Given the description of an element on the screen output the (x, y) to click on. 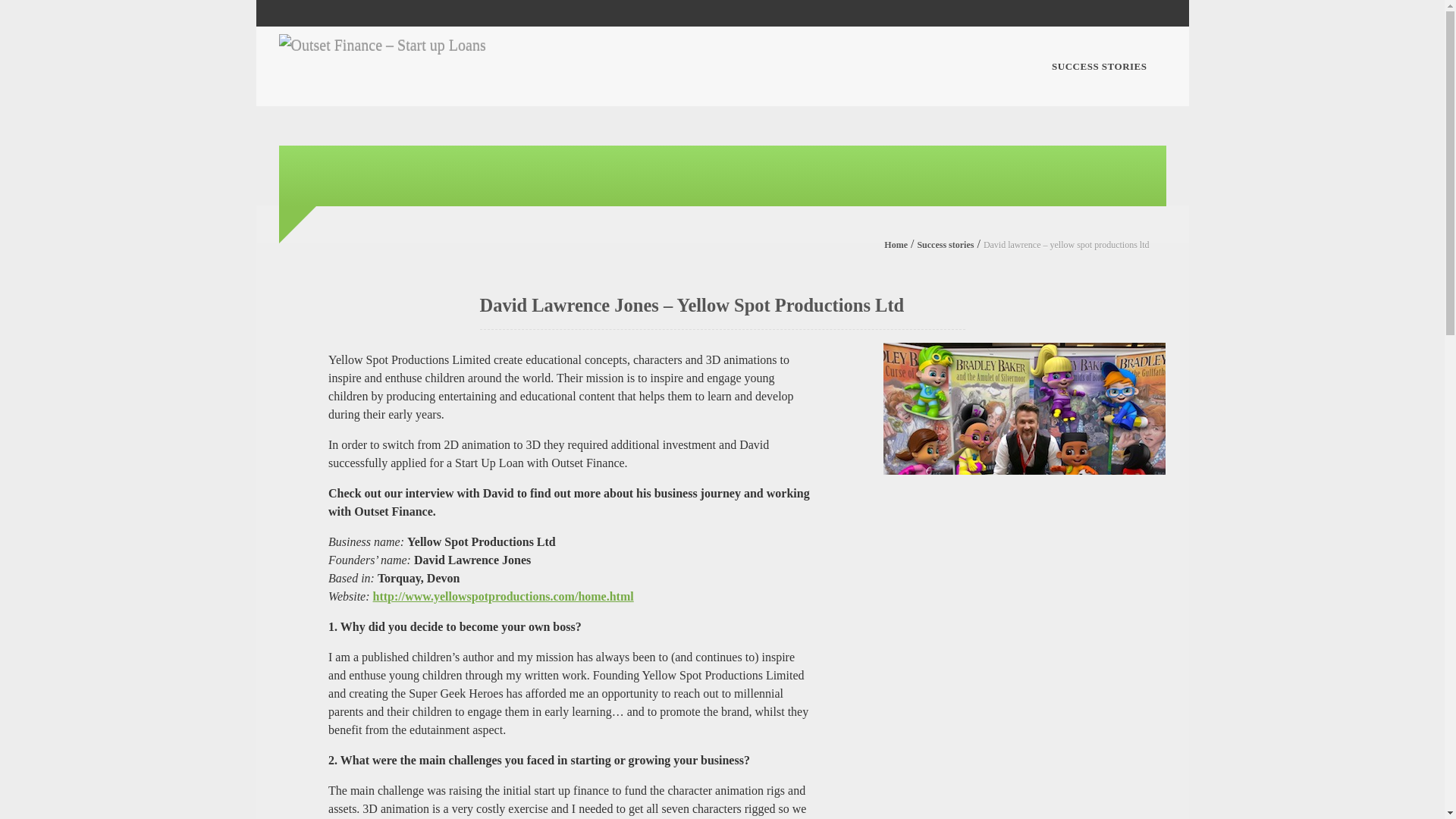
SUCCESS STORIES (1099, 66)
Home (895, 244)
Success stories (945, 244)
